Given the description of an element on the screen output the (x, y) to click on. 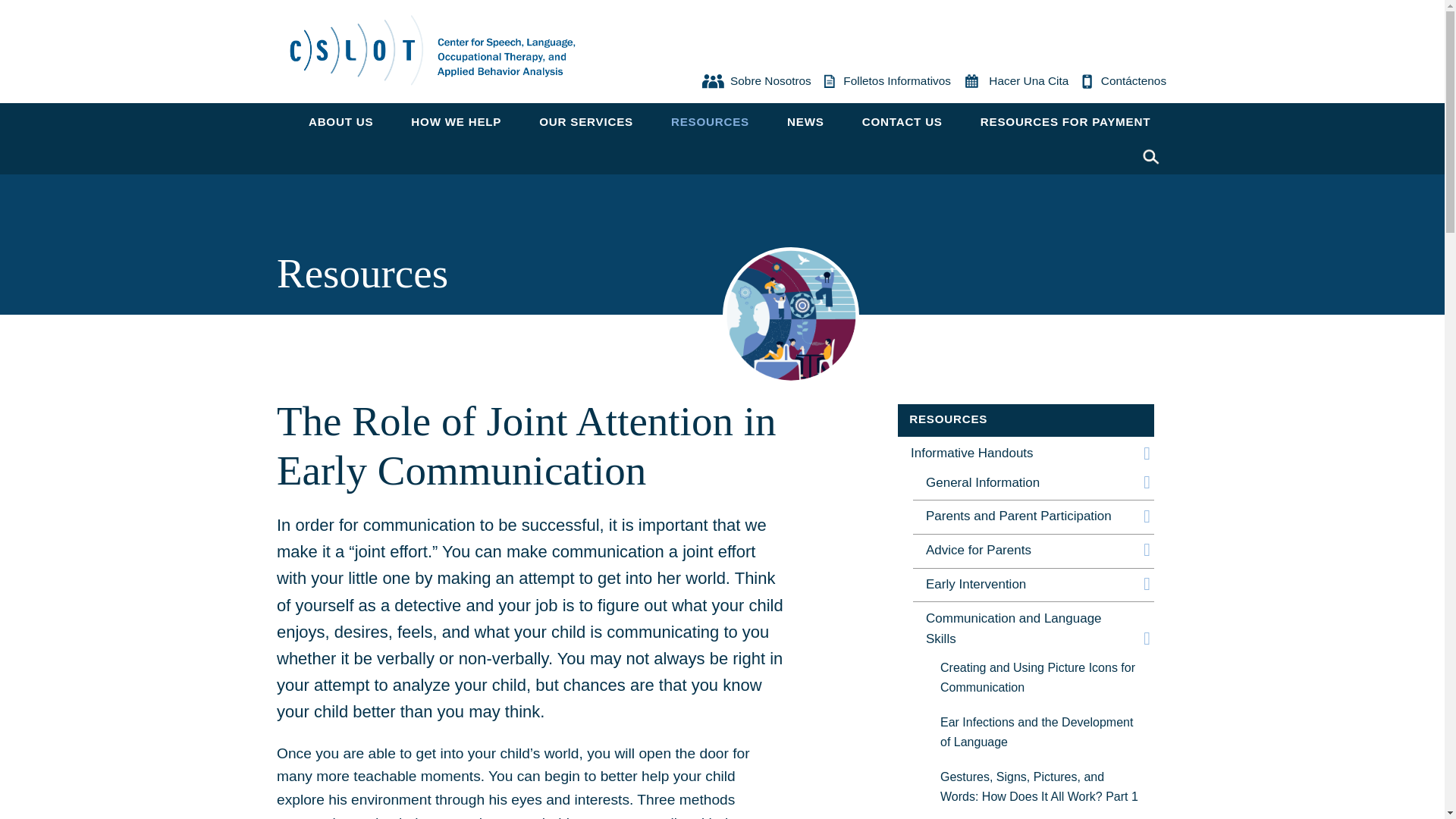
ABOUT US (340, 121)
Folletos Informativos (886, 81)
Hacer Una Cita (1015, 81)
HOW WE HELP (456, 121)
Sobre Nosotros (755, 81)
Home (432, 48)
